Given the description of an element on the screen output the (x, y) to click on. 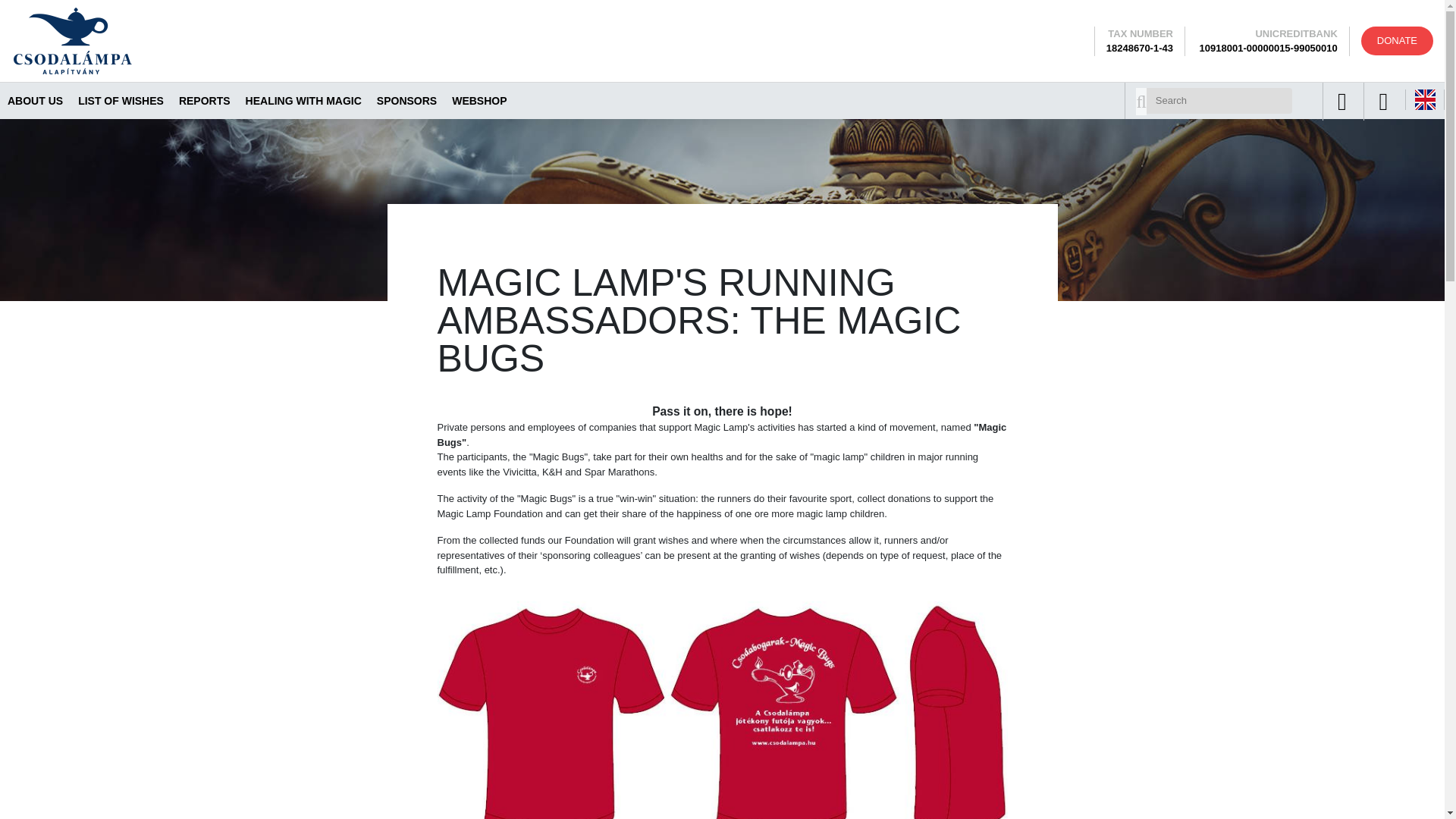
YOUTUBE (1383, 101)
WEBSHOP (478, 100)
LIST OF WISHES (120, 100)
ABOUT US (34, 100)
FACEBOOK (1342, 101)
HEALING WITH MAGIC (303, 100)
SPONSORS (406, 100)
DONATE (1396, 40)
REPORTS (204, 100)
